Given the description of an element on the screen output the (x, y) to click on. 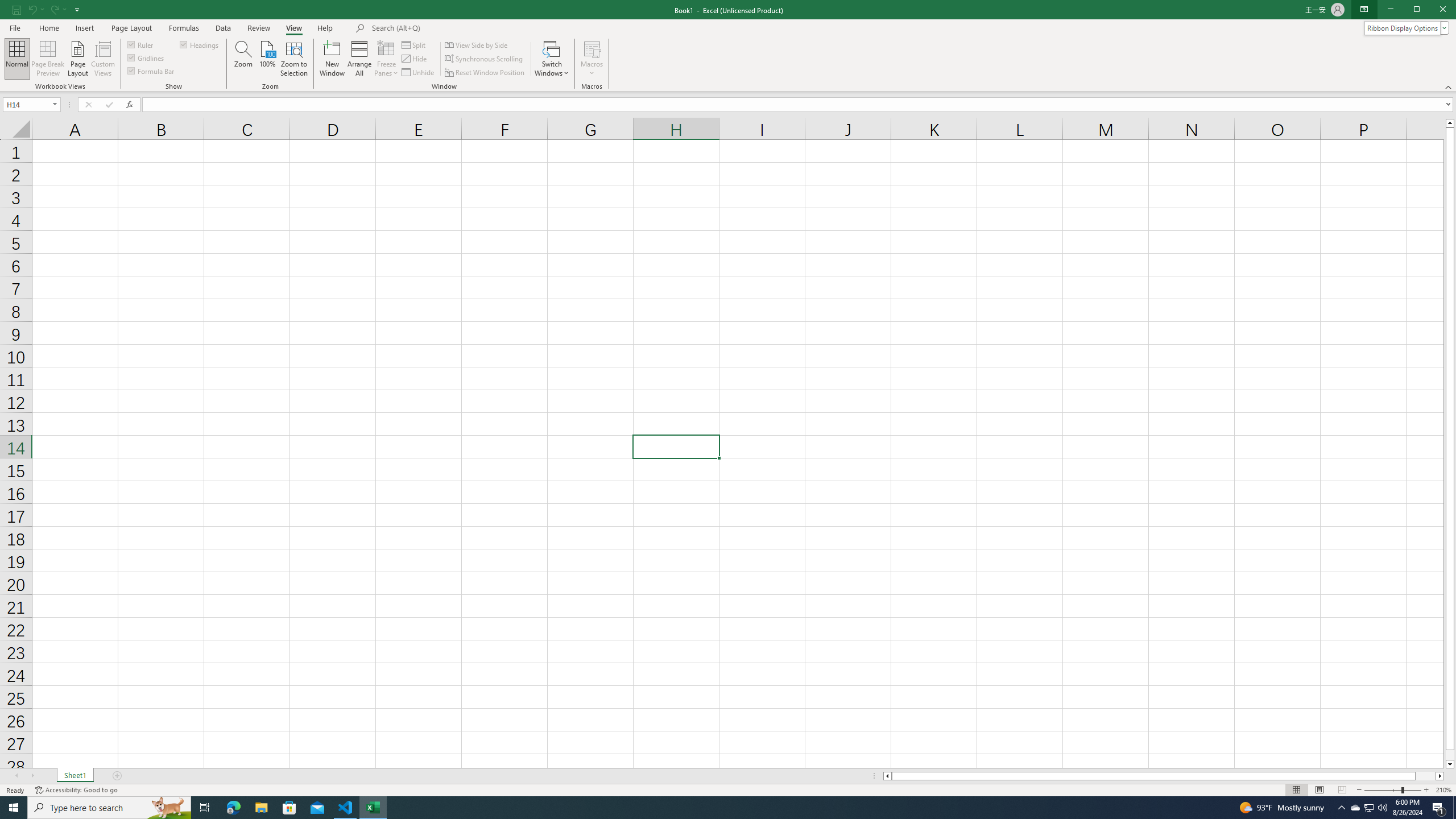
Split (414, 44)
Macros (591, 58)
New Window (332, 58)
Custom Views... (103, 58)
Headings (199, 44)
Zoom to Selection (293, 58)
Switch Windows (551, 58)
